Given the description of an element on the screen output the (x, y) to click on. 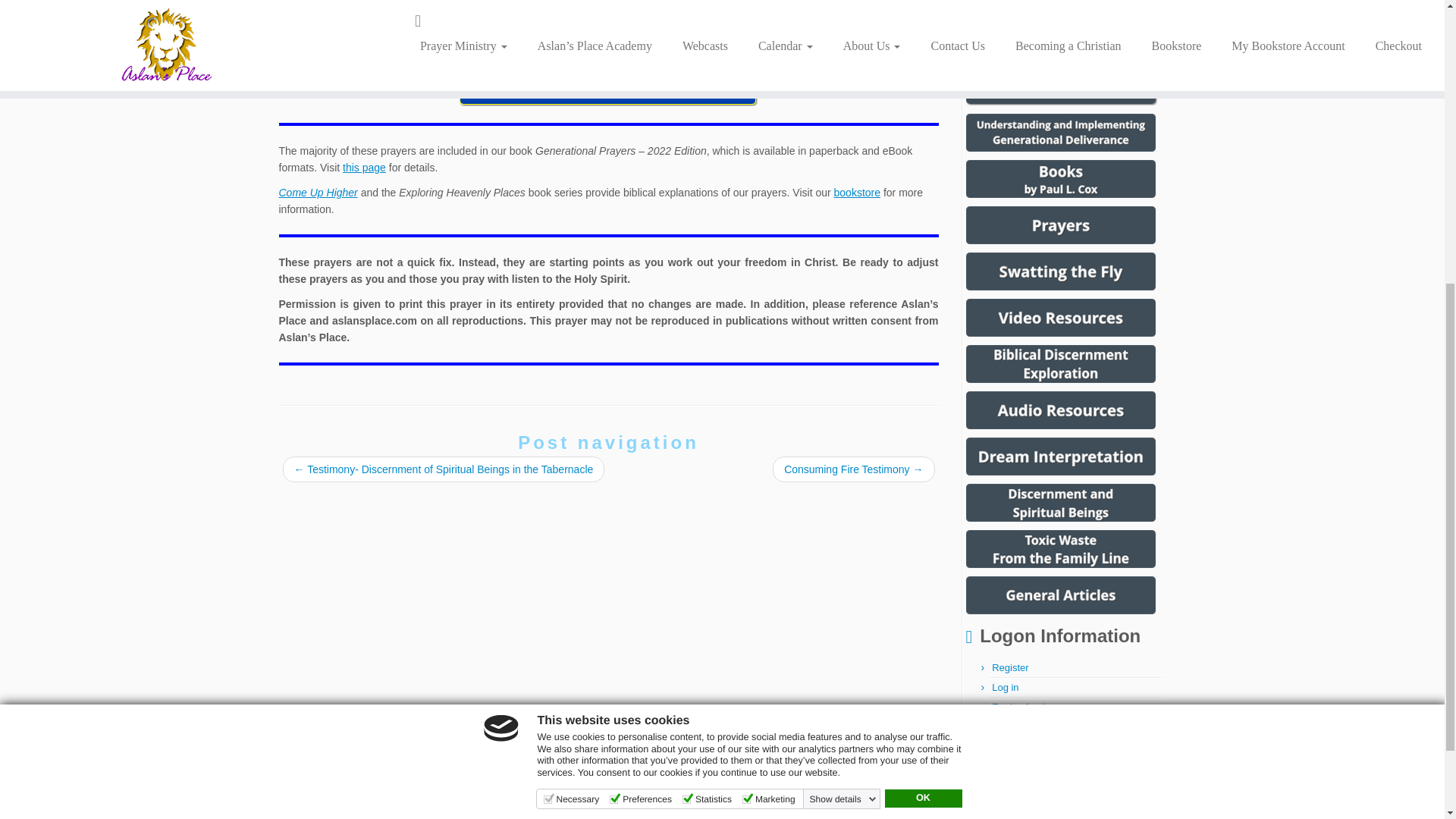
OK (921, 319)
Sign me up! (1349, 487)
Show details (842, 319)
